Given the description of an element on the screen output the (x, y) to click on. 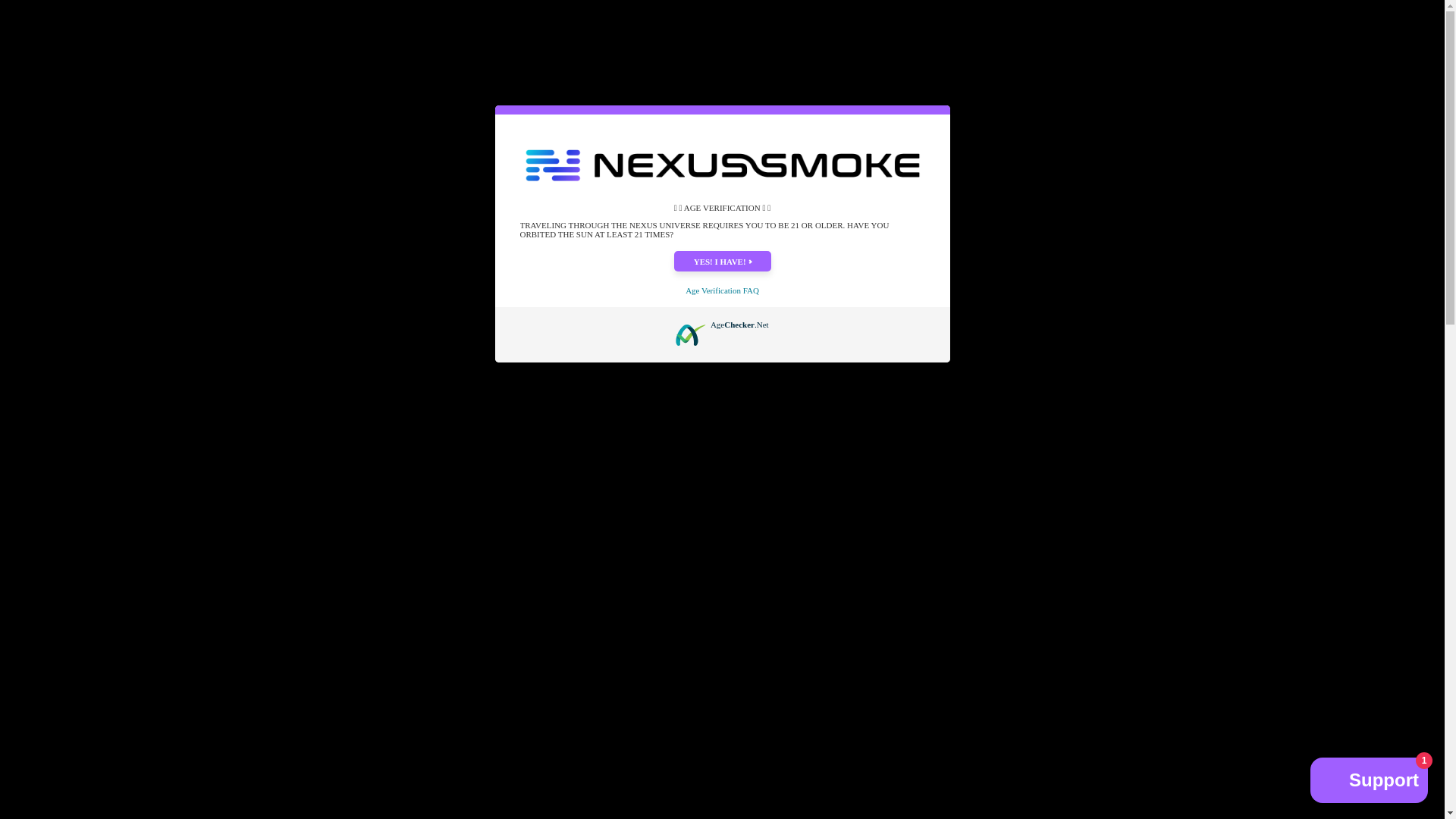
Search (247, 103)
Instagram - Nexus Smoke (1182, 151)
Back to the homepage (248, 152)
Shopify online store chat (1369, 781)
1 (884, 239)
Twitter - Nexus Smoke (1165, 151)
TikTok - Nexus Smoke (1200, 151)
